Given the description of an element on the screen output the (x, y) to click on. 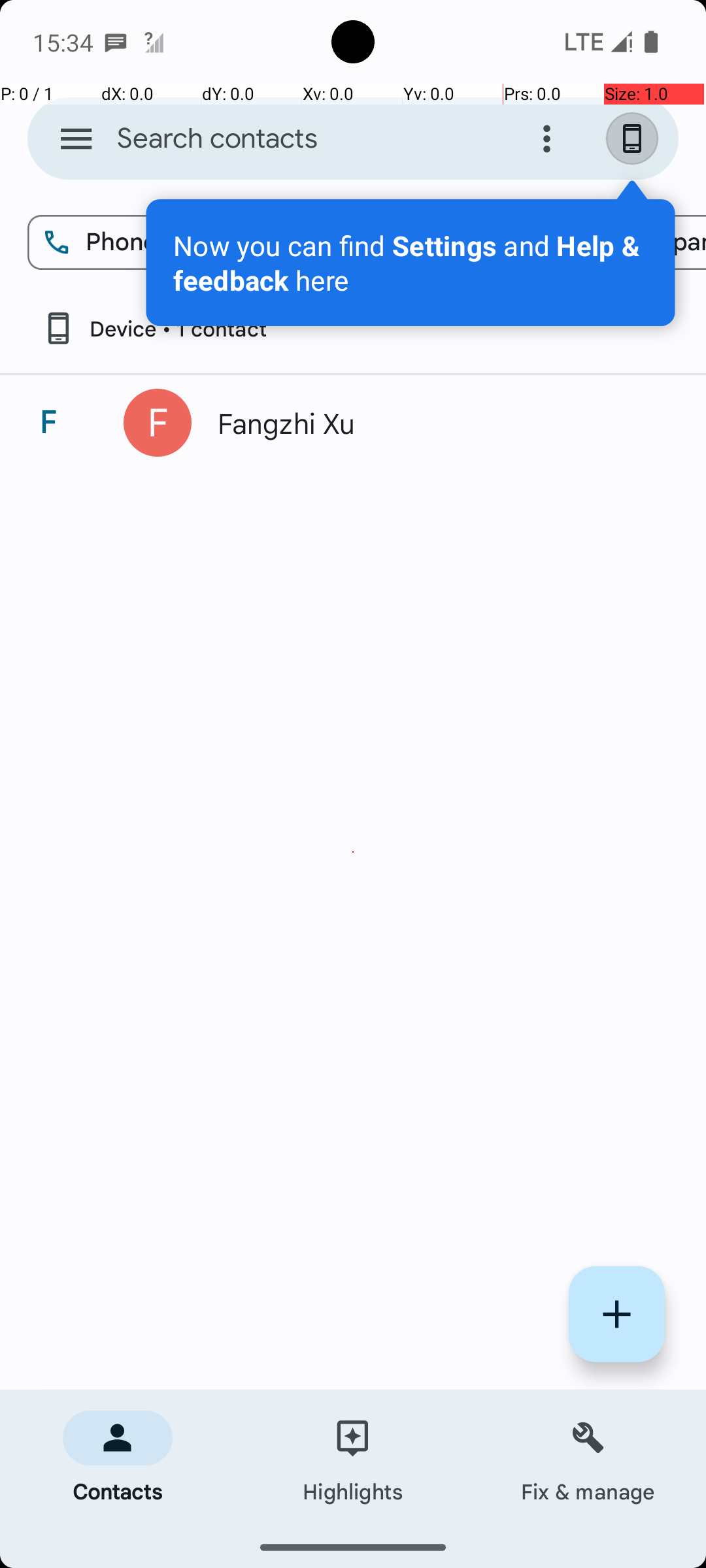
Device • 1 contact Element type: android.widget.TextView (153, 328)
Fangzhi Xu Element type: android.widget.TextView (434, 422)
Now you can find Settings and Help & feedback here
Open account and settings. Element type: android.view.ViewGroup (409, 262)
